Given the description of an element on the screen output the (x, y) to click on. 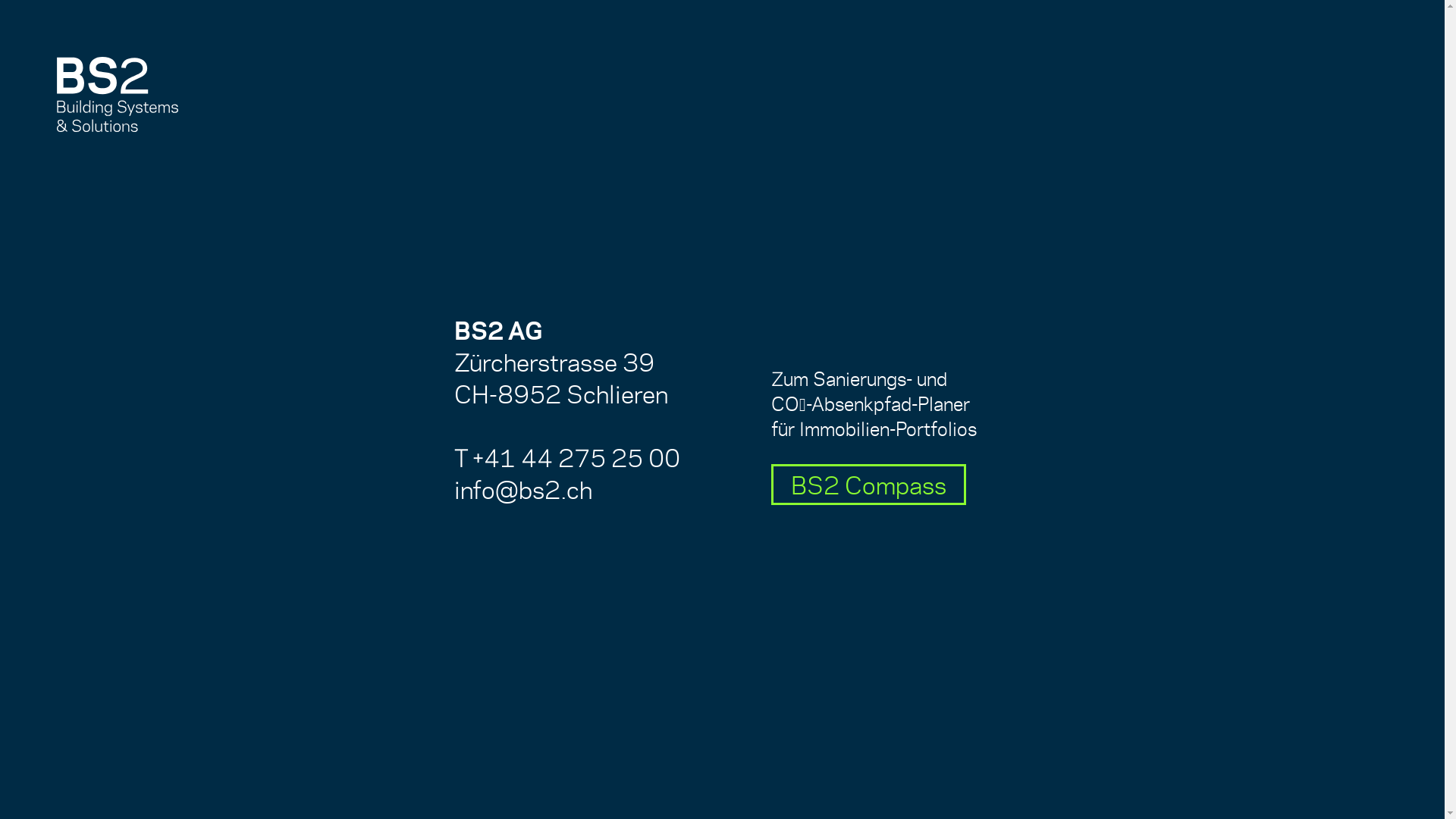
info@bs2.ch Element type: text (522, 489)
BS2 Compass Element type: text (868, 484)
+41 44 275 25 00 Element type: text (575, 457)
